Given the description of an element on the screen output the (x, y) to click on. 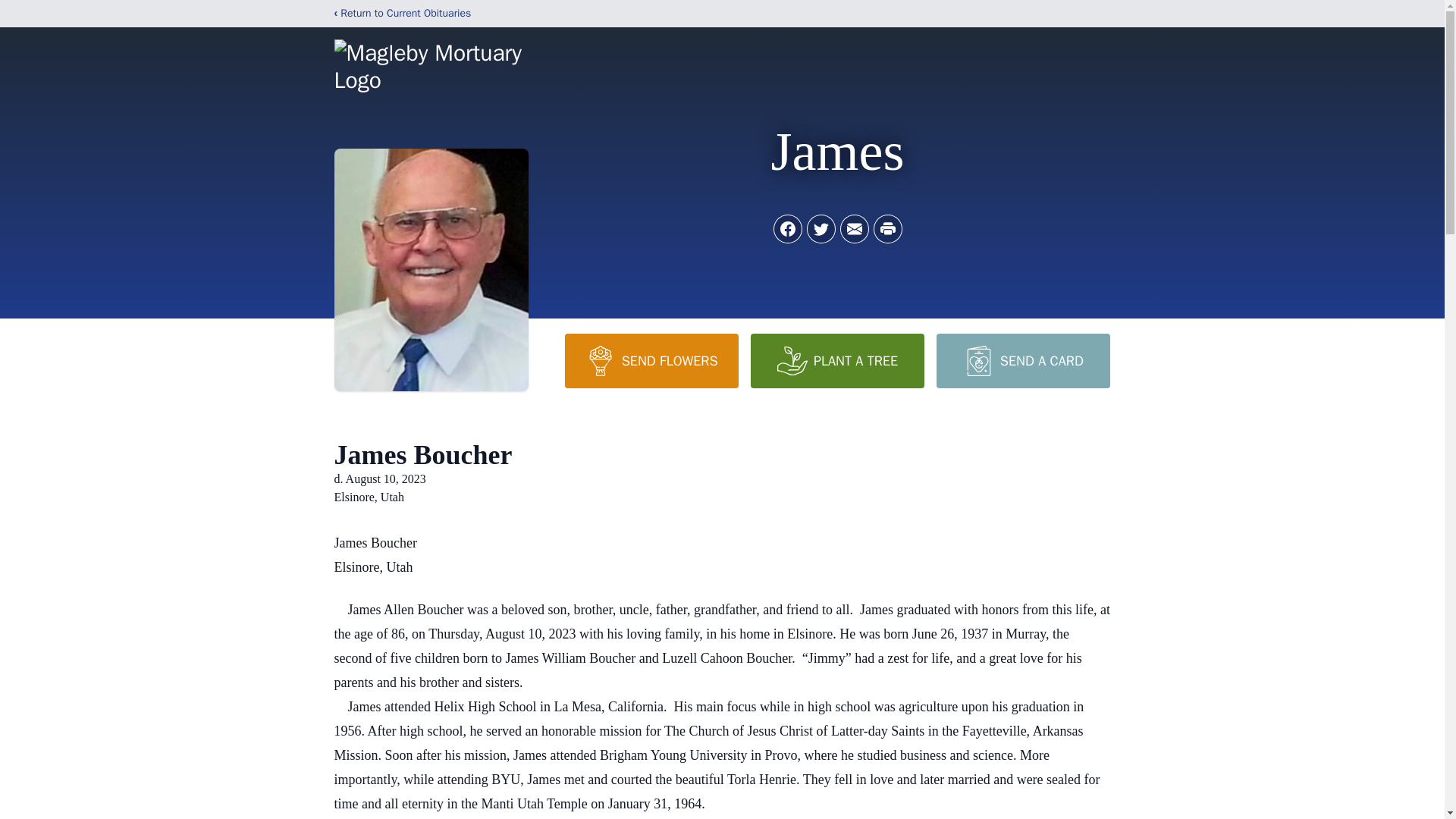
SEND A CARD (1022, 360)
PLANT A TREE (837, 360)
SEND FLOWERS (651, 360)
